Given the description of an element on the screen output the (x, y) to click on. 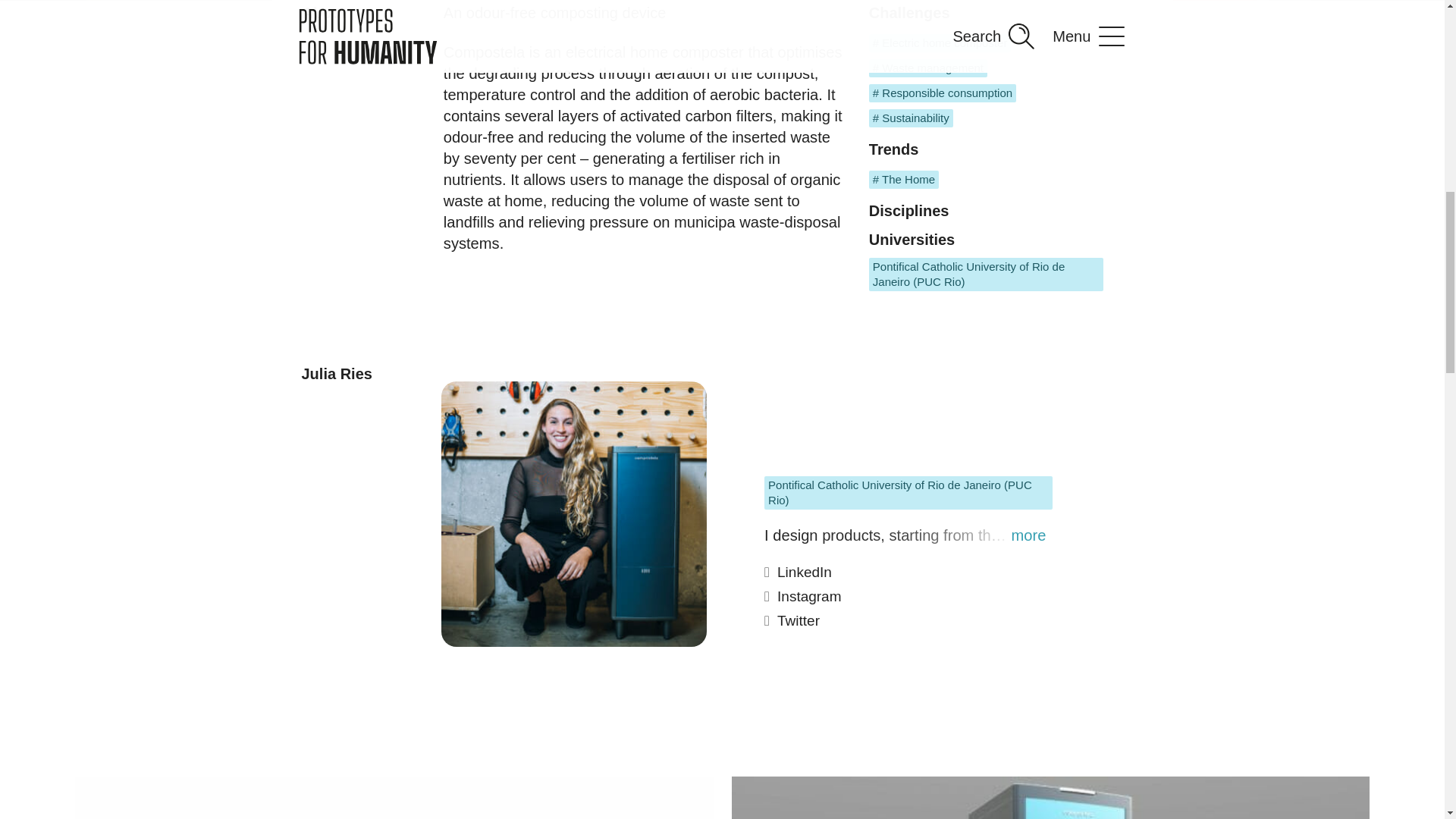
Instagram (910, 600)
Twitter (910, 624)
LinkedIn (910, 576)
